Given the description of an element on the screen output the (x, y) to click on. 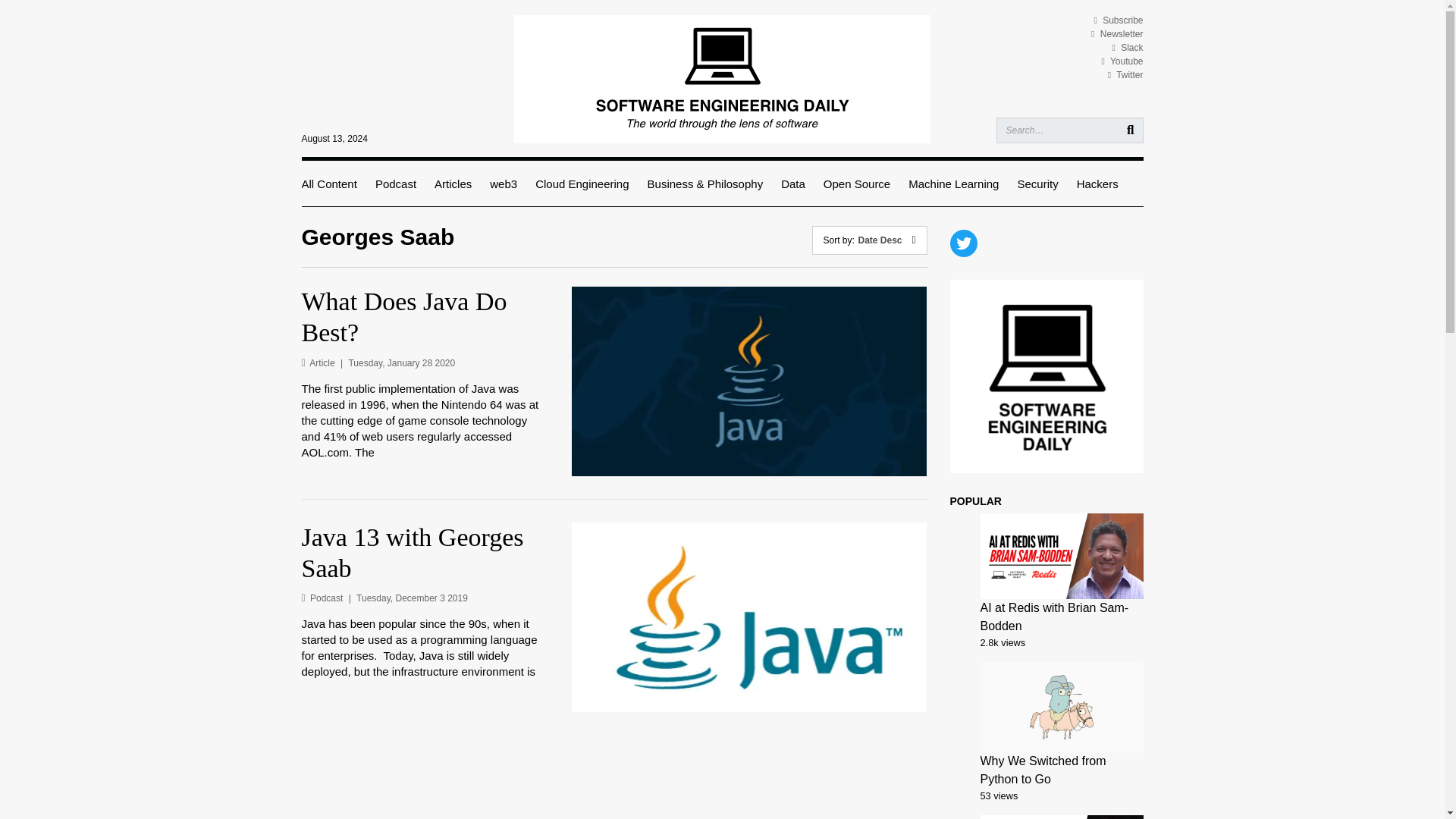
Subscribe (1117, 20)
Java 13 with Georges Saab (424, 553)
What Does Java Do Best? (424, 317)
Search for: (1068, 130)
AI at Redis with Brian Sam-Bodden (1053, 616)
All Content (328, 183)
Twitter (1125, 74)
Why We Switched from Python to Go (1042, 769)
Machine Learning (953, 183)
Newsletter (1116, 33)
